Given the description of an element on the screen output the (x, y) to click on. 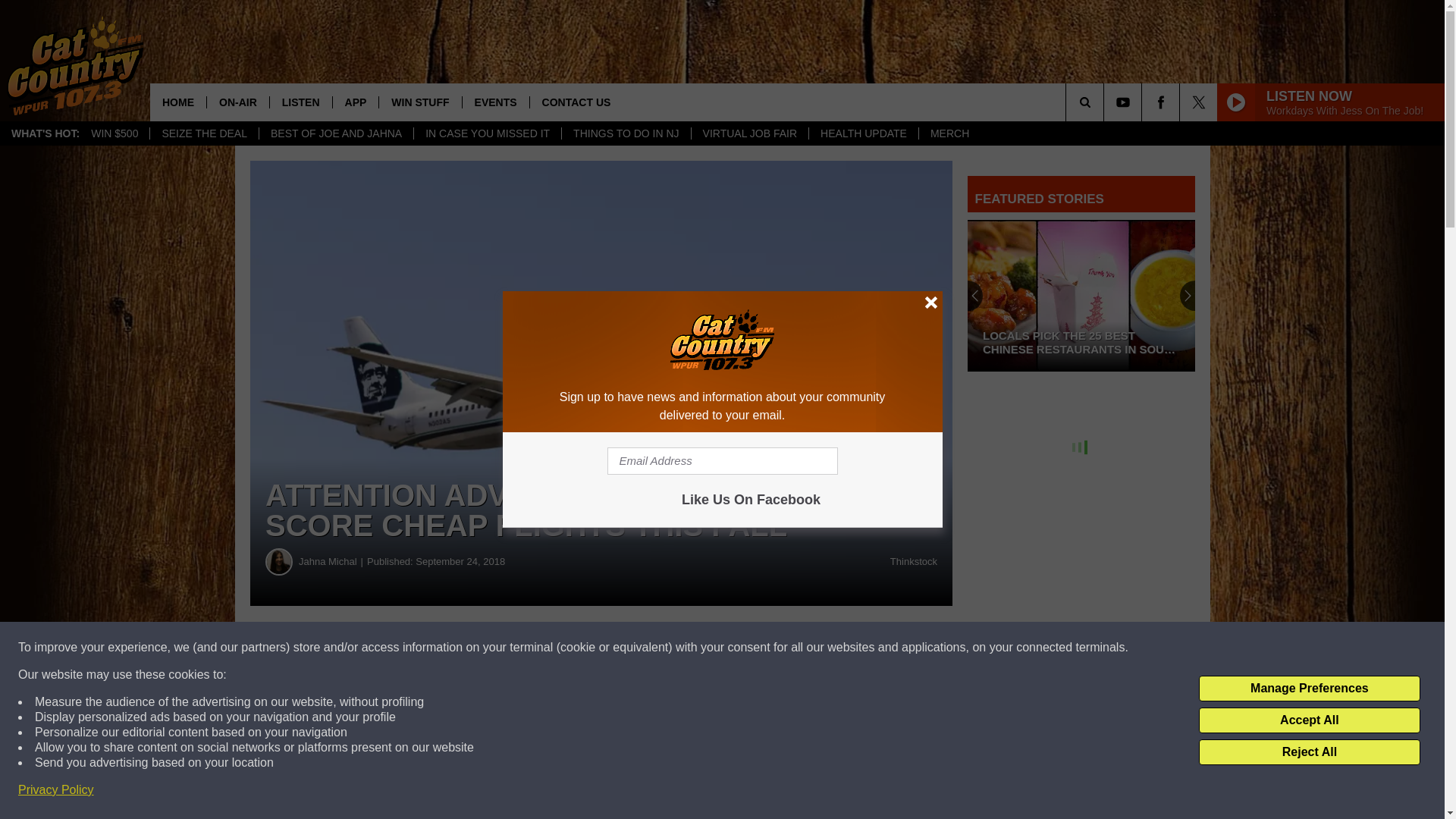
BEST OF JOE AND JAHNA (336, 133)
WIN STUFF (419, 102)
IN CASE YOU MISSED IT (486, 133)
Accept All (1309, 720)
MERCH (948, 133)
Reject All (1309, 751)
Share on Twitter (741, 647)
ON-AIR (237, 102)
Email Address (722, 461)
THINGS TO DO IN NJ (625, 133)
SEIZE THE DEAL (204, 133)
Privacy Policy (55, 789)
Share on Facebook (460, 647)
Manage Preferences (1309, 688)
VIRTUAL JOB FAIR (749, 133)
